Given the description of an element on the screen output the (x, y) to click on. 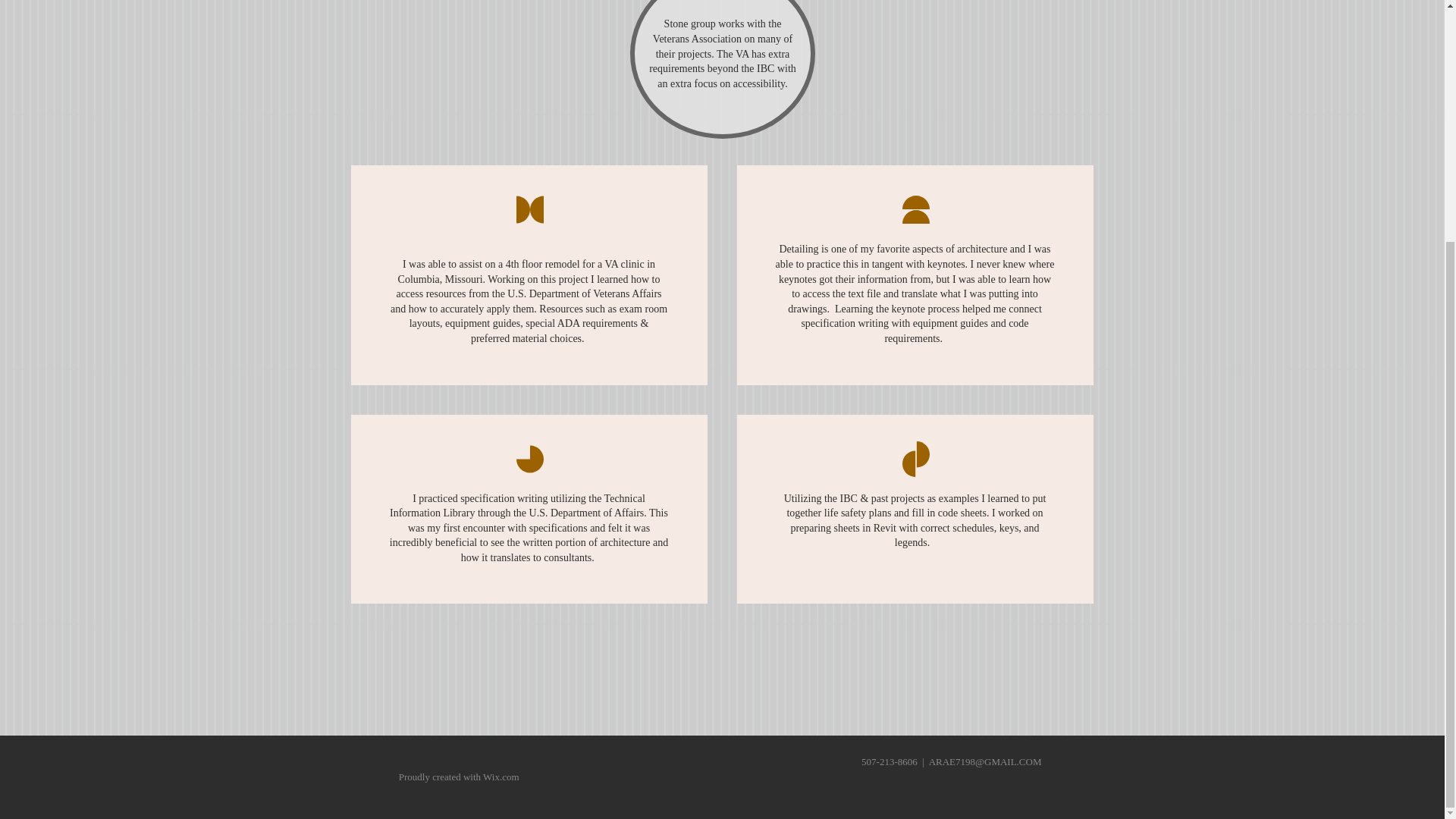
Wix.com (501, 776)
